Given the description of an element on the screen output the (x, y) to click on. 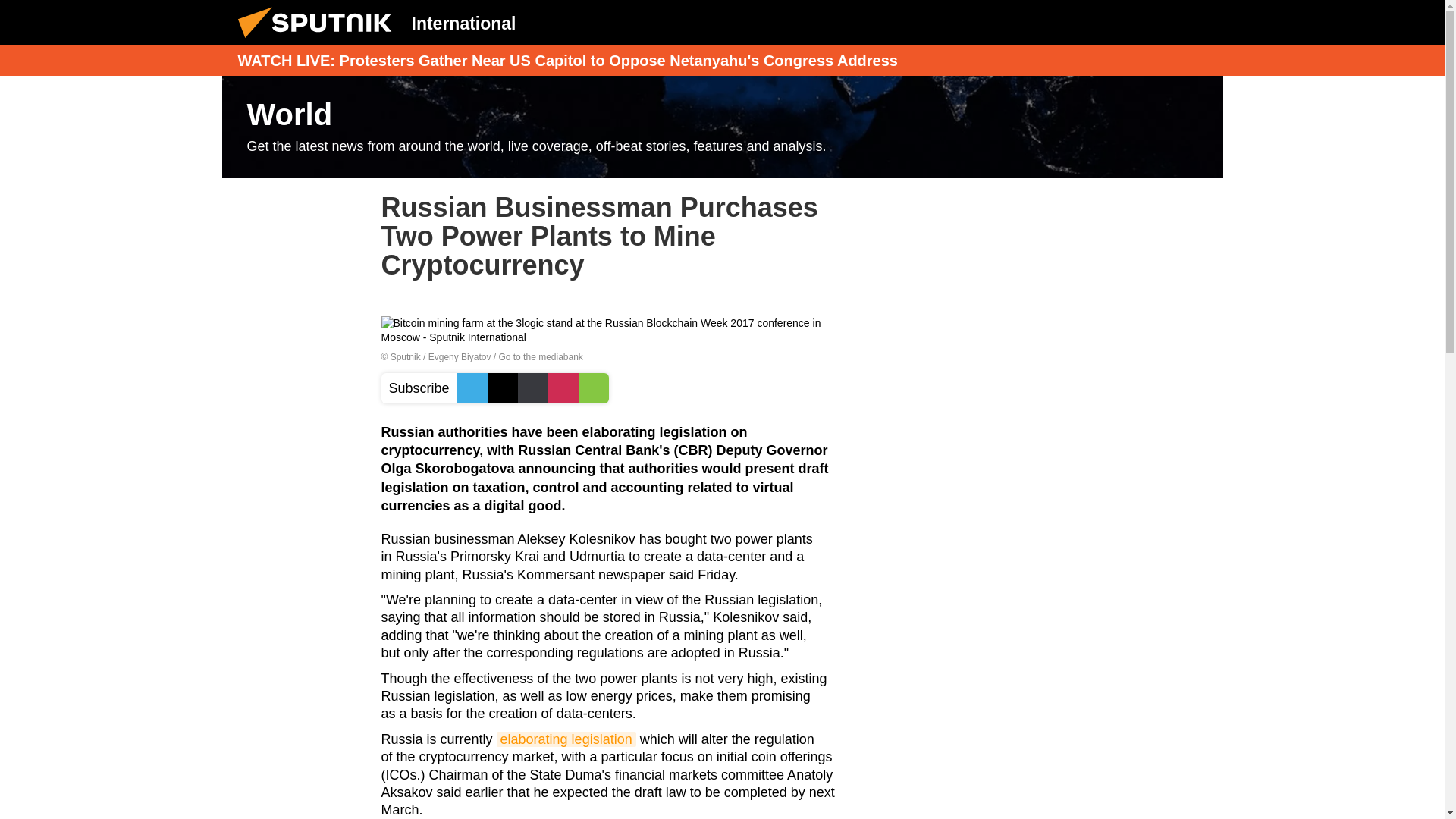
Authorization (1123, 22)
Chats (1199, 22)
Sputnik International (319, 41)
World (722, 127)
